Given the description of an element on the screen output the (x, y) to click on. 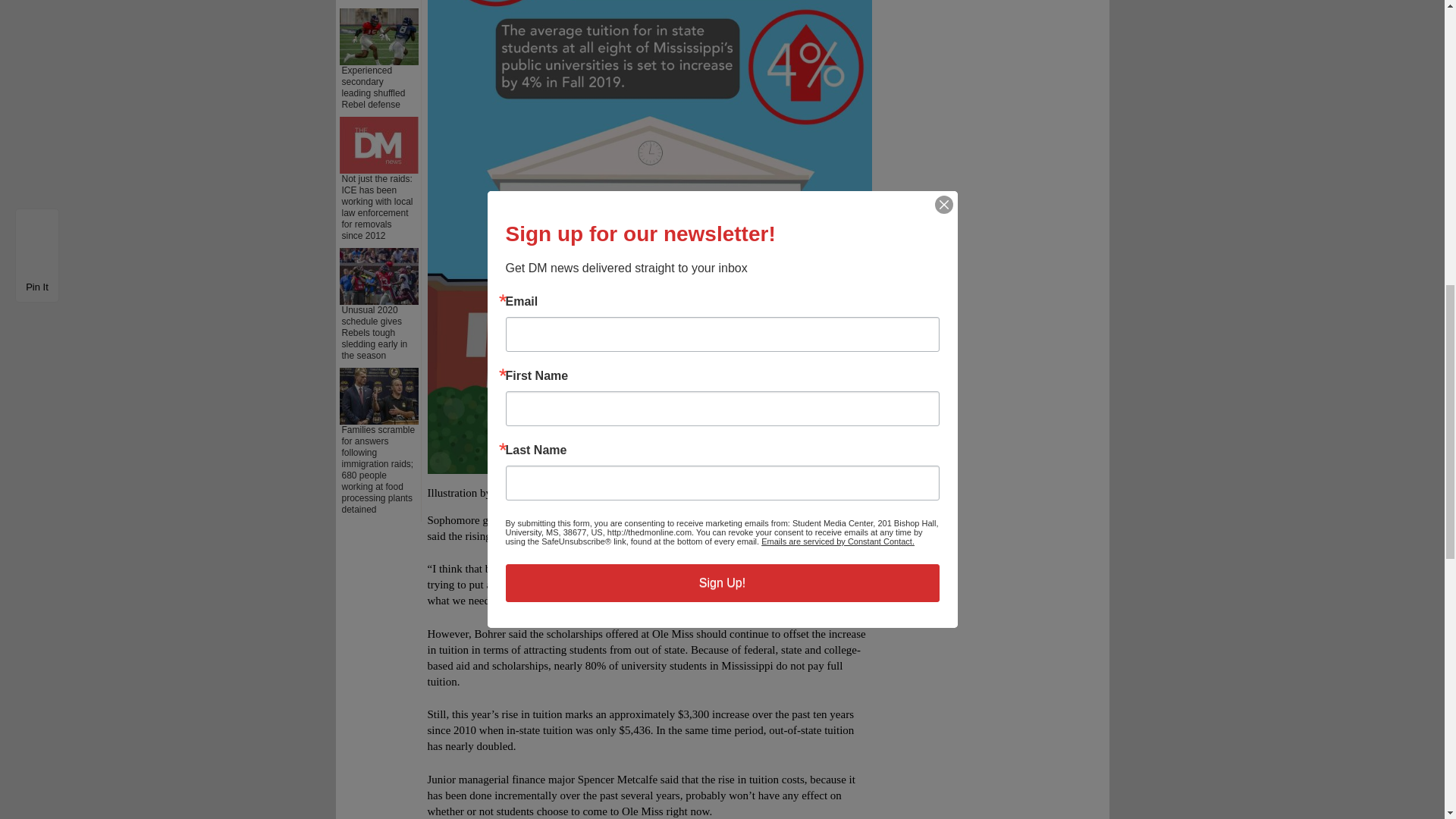
Experienced secondary leading shuffled Rebel defense (372, 87)
